Given the description of an element on the screen output the (x, y) to click on. 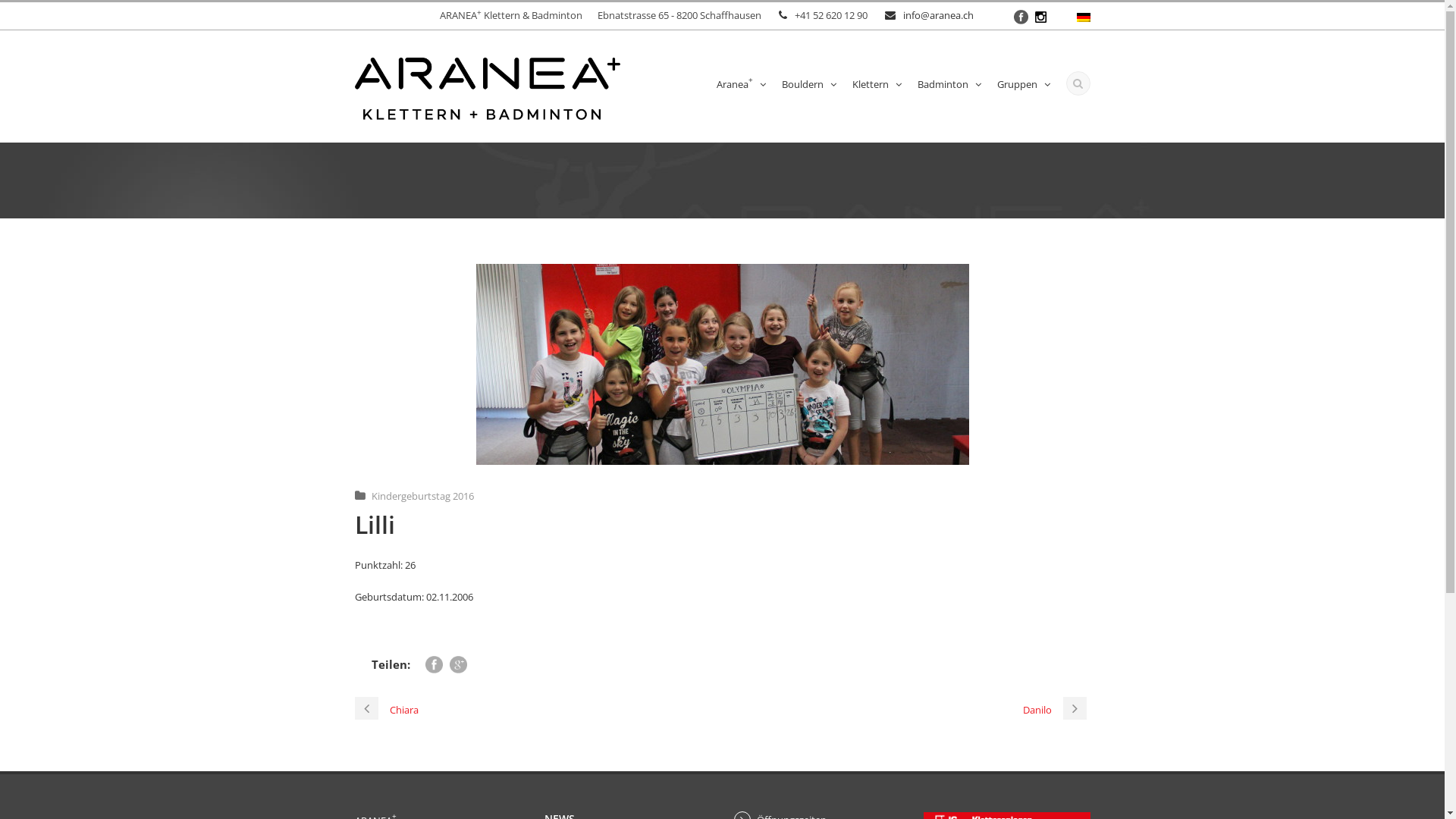
Chiara Element type: text (386, 709)
Aranea+ Element type: text (738, 87)
Badminton Element type: text (946, 87)
Klettern Element type: text (873, 87)
Gruppen Element type: text (1021, 87)
Kindergeburtstag 2016 Element type: text (422, 495)
Danilo Element type: text (1055, 709)
Bouldern Element type: text (807, 87)
info@aranea.ch Element type: text (937, 14)
Deutsch (de) Element type: hover (1083, 15)
